Given the description of an element on the screen output the (x, y) to click on. 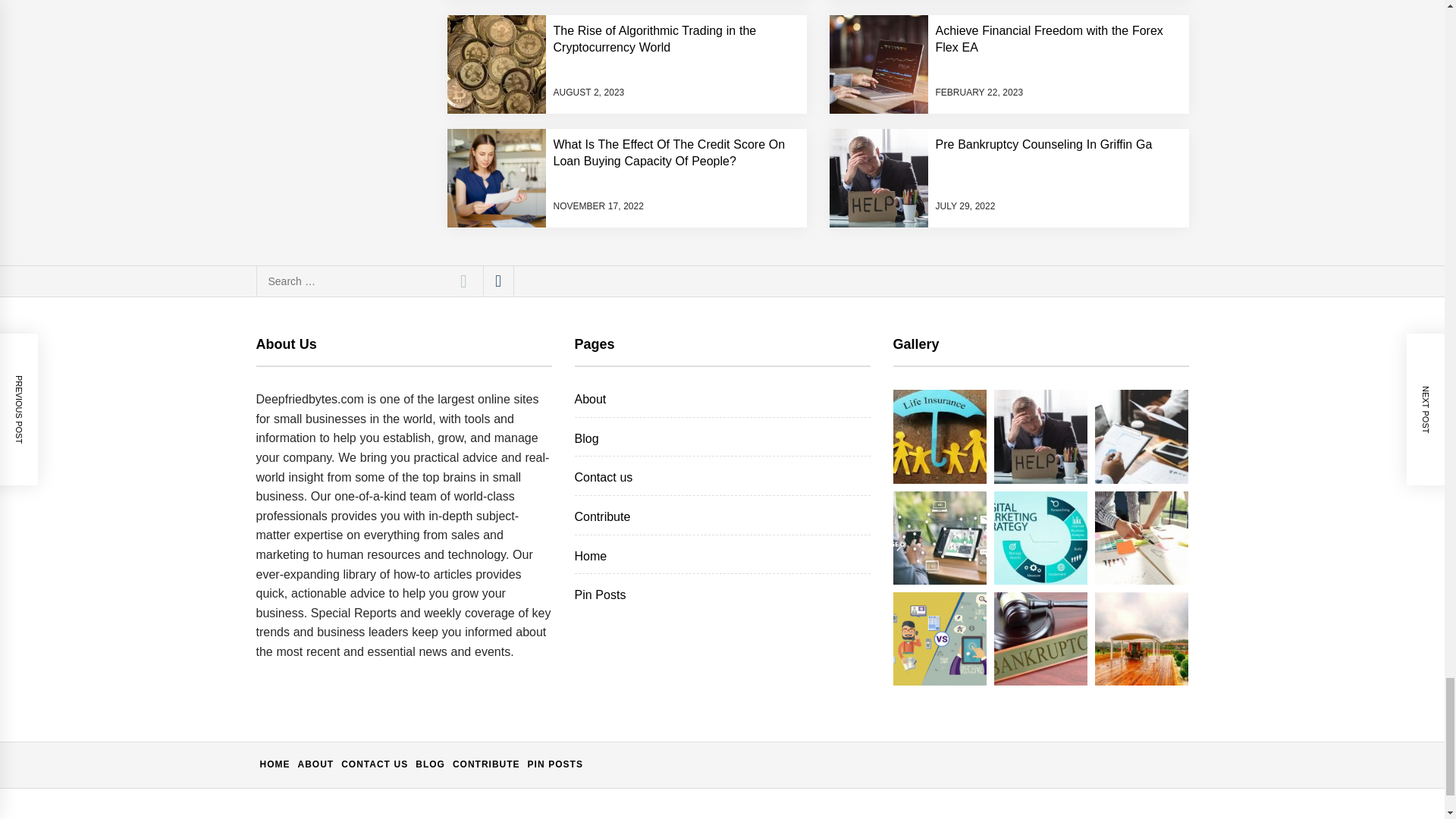
Search (462, 281)
Search (462, 281)
